Given the description of an element on the screen output the (x, y) to click on. 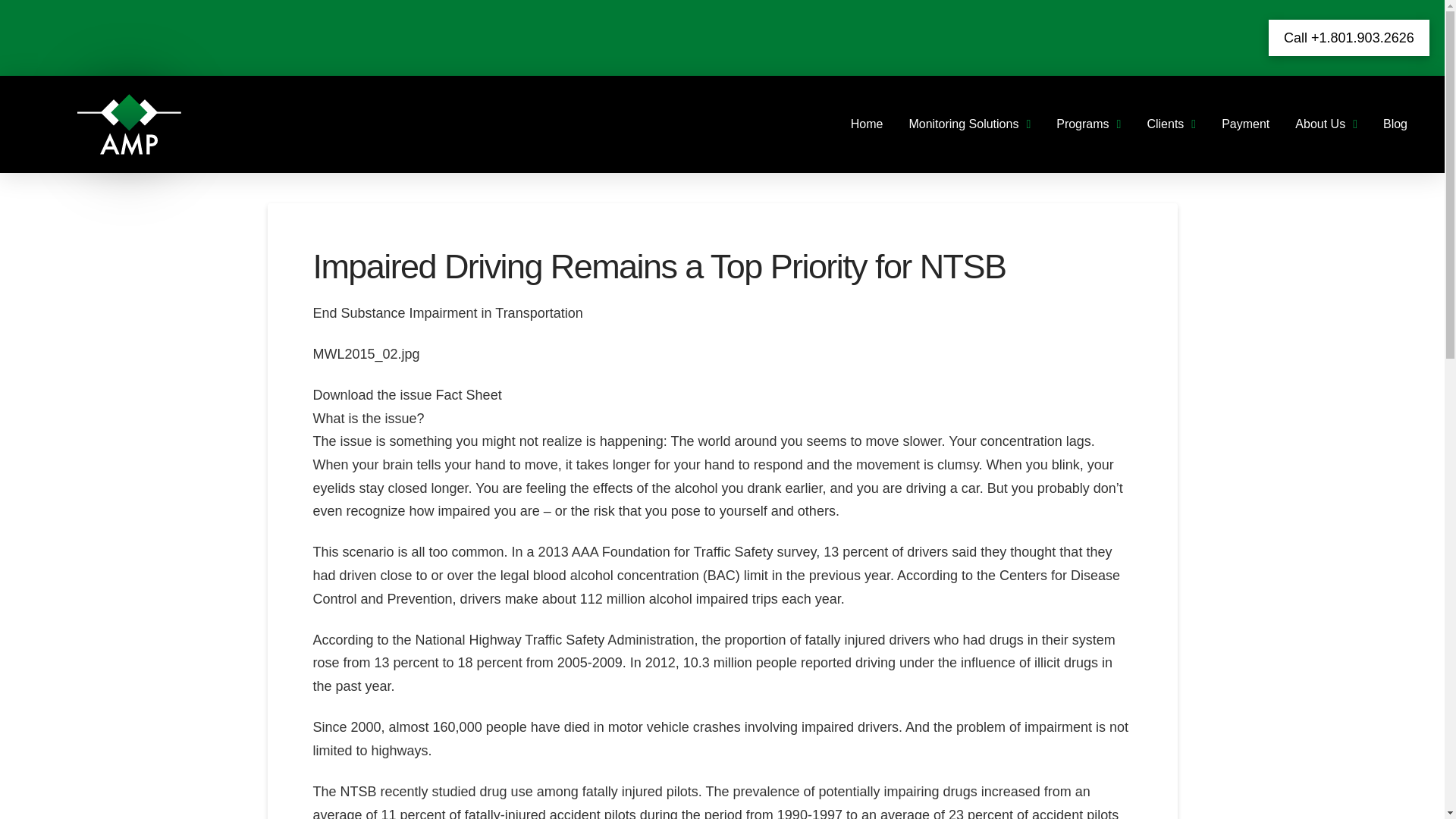
About Us (1326, 124)
Programs (1088, 124)
Programs (1088, 124)
Monitoring Solutions (969, 124)
About Us (1326, 124)
Monitoring Solutions (969, 124)
